Given the description of an element on the screen output the (x, y) to click on. 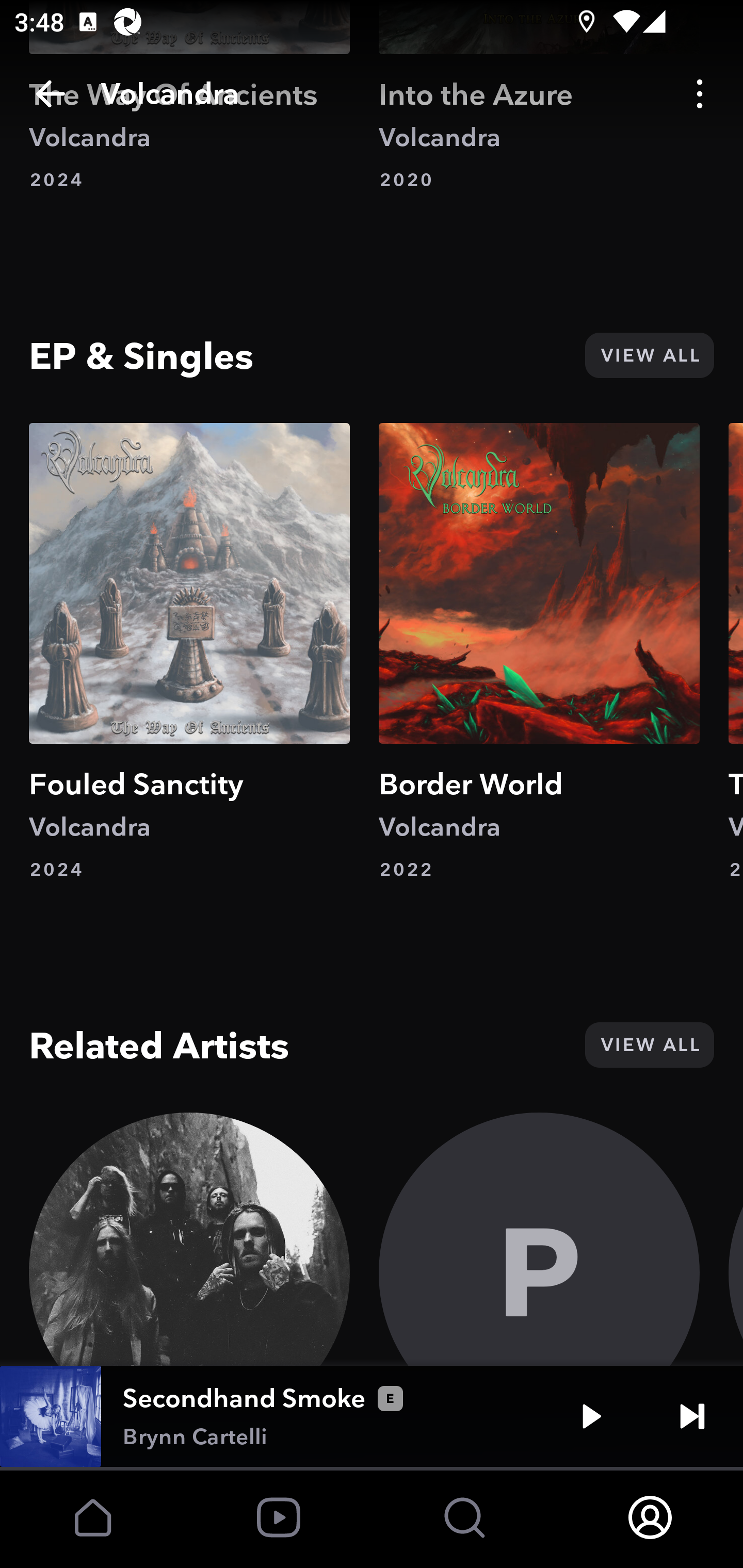
Options (699, 93)
VIEW ALL (649, 354)
Fouled Sanctity Volcandra 2024 (188, 652)
Border World Volcandra 2022 (538, 652)
VIEW ALL (649, 1044)
P (538, 1239)
Secondhand Smoke    Brynn Cartelli Play (371, 1416)
Play (590, 1416)
